Given the description of an element on the screen output the (x, y) to click on. 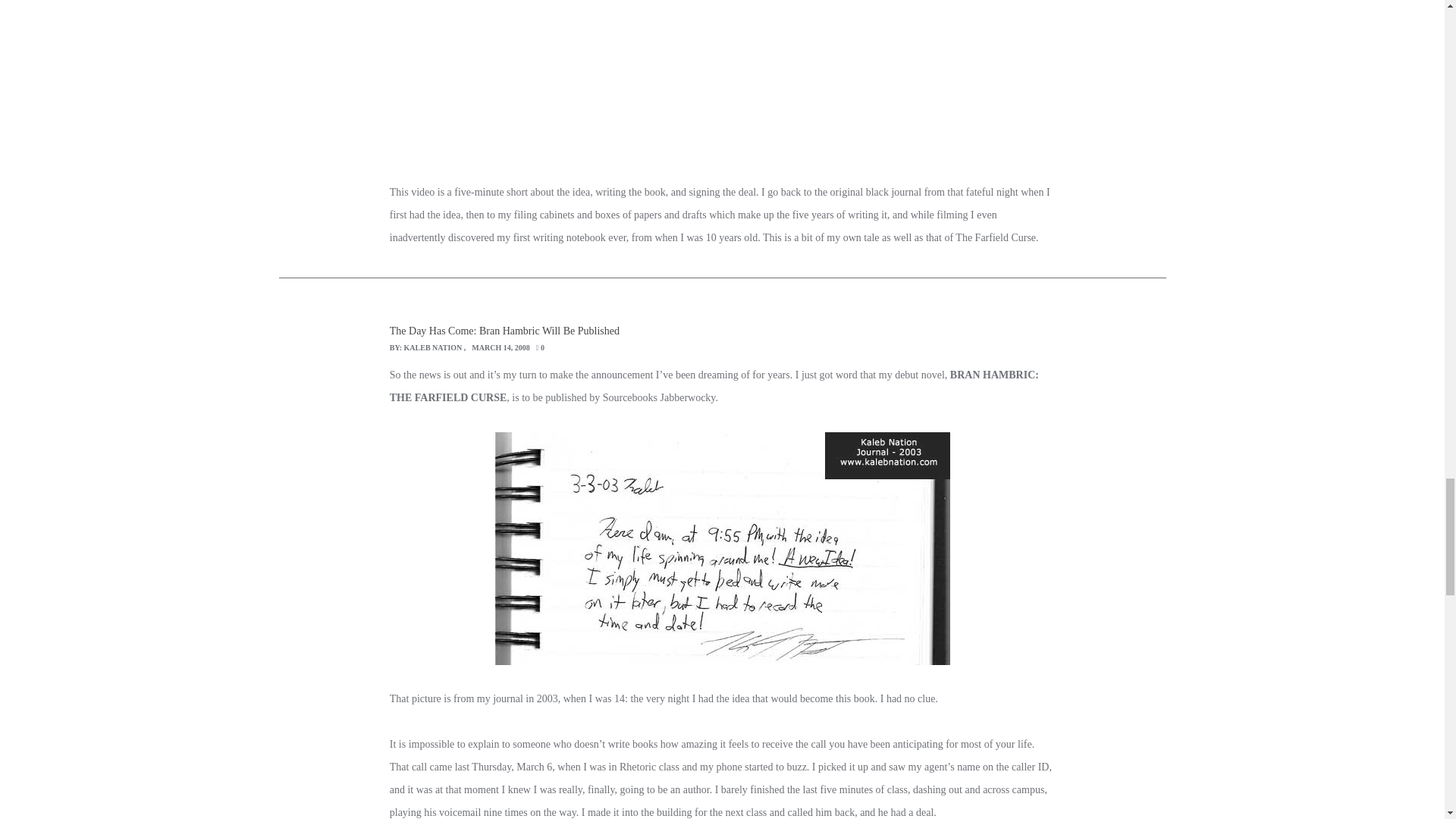
Posts by Kaleb Nation (433, 347)
